Given the description of an element on the screen output the (x, y) to click on. 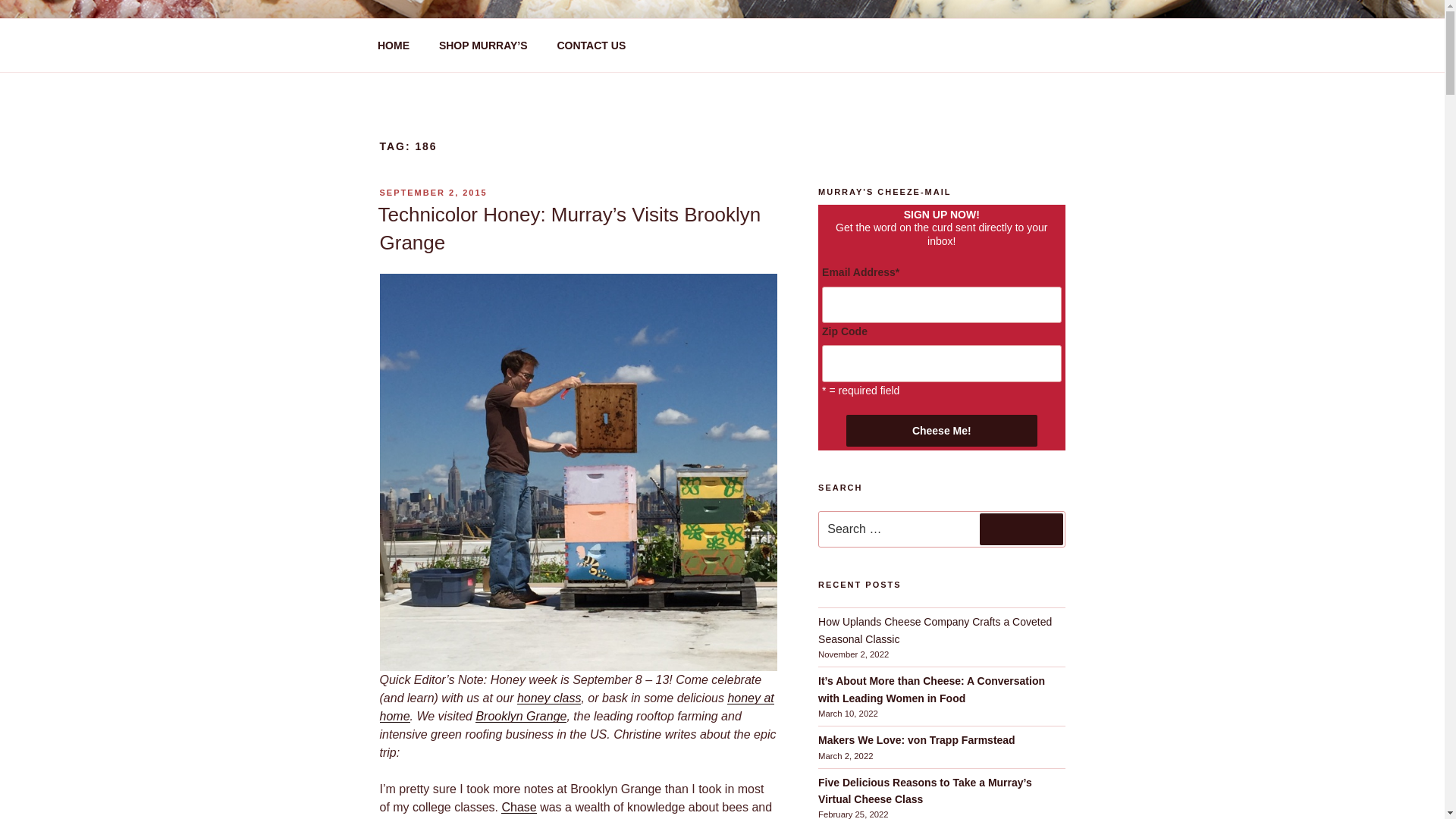
honey class (548, 697)
Chase (517, 807)
HOME (393, 45)
CONTACT US (591, 45)
Cheese Me! (940, 430)
honey at home (575, 706)
Brooklyn Grange (521, 716)
SEPTEMBER 2, 2015 (432, 192)
MURRAY'S CHEESE BLOG (574, 52)
